Given the description of an element on the screen output the (x, y) to click on. 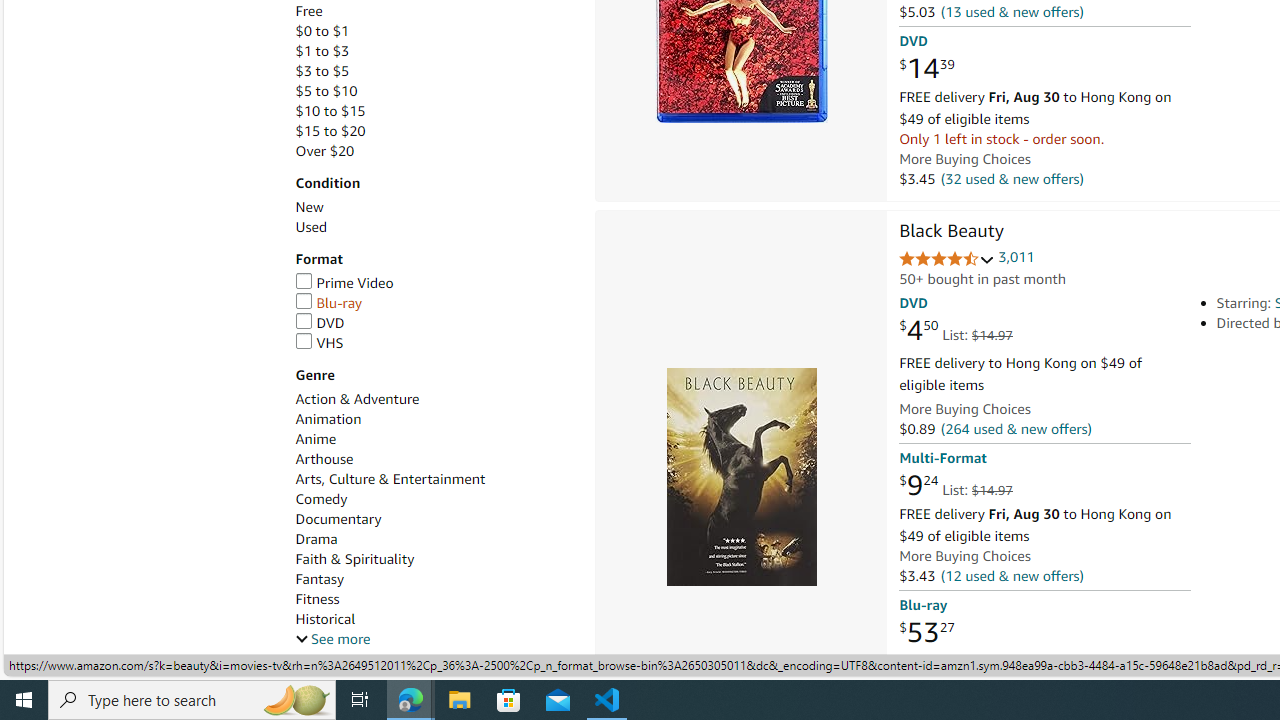
Arthouse (434, 459)
Over $20 (434, 151)
$1 to $3 (321, 51)
Drama (434, 539)
Free (308, 11)
$4.50 List: $14.97 (955, 331)
3,011 (1016, 257)
(12 used & new offers) (1011, 574)
Multi-Format (942, 458)
Prime Video (434, 283)
4.7 out of 5 stars (946, 259)
See more, Genre (332, 639)
Blu-ray (434, 303)
Fitness (434, 599)
Anime (434, 439)
